Given the description of an element on the screen output the (x, y) to click on. 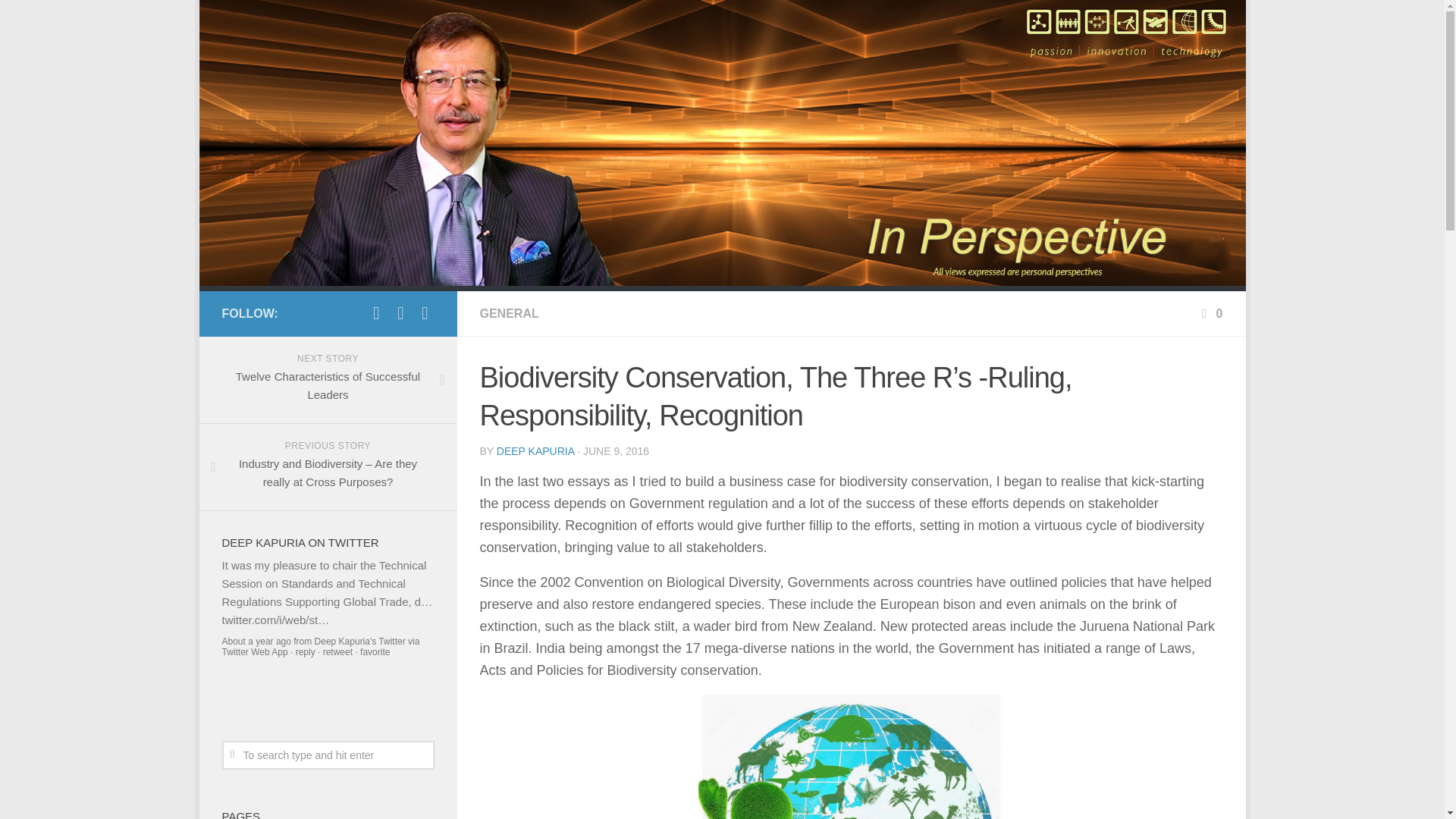
Facebook (400, 312)
Deep Kapuria's Twitter (360, 641)
reply (305, 652)
retweet (327, 380)
Deep Kapuria (337, 652)
favorite (360, 641)
GENERAL (374, 652)
reply (508, 313)
retweet (305, 652)
